Given the description of an element on the screen output the (x, y) to click on. 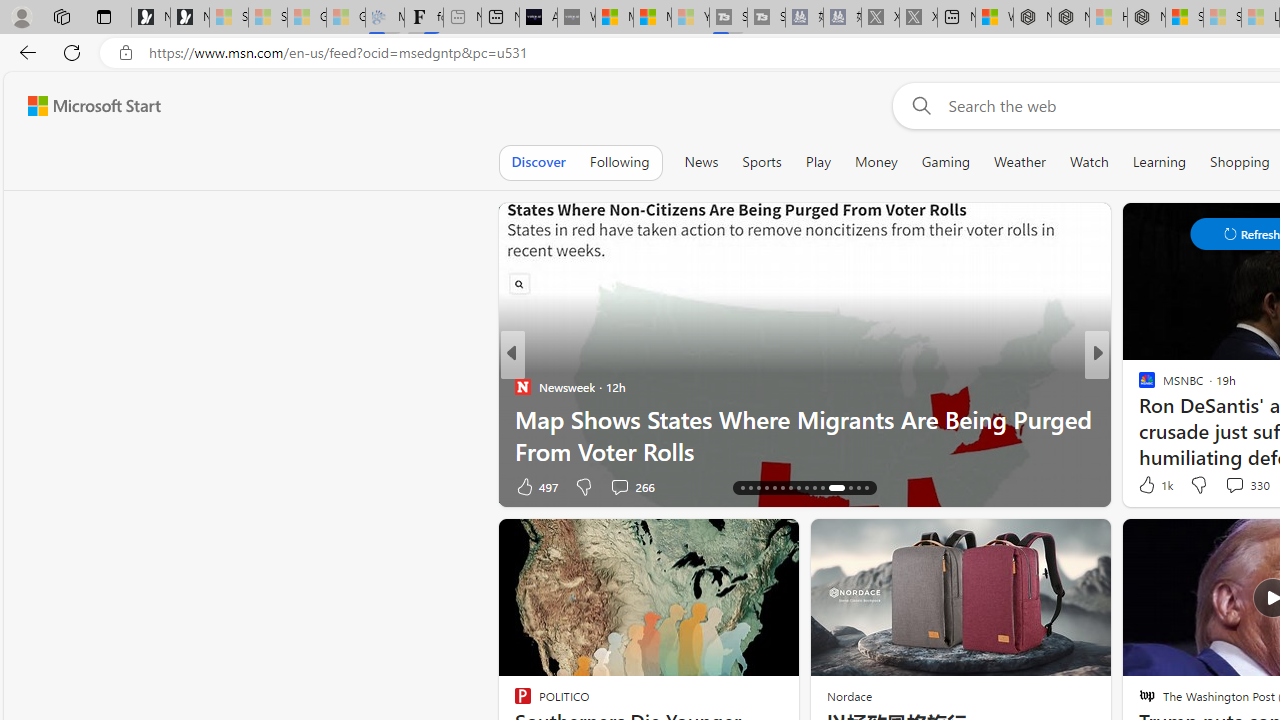
AutomationID: tab-22 (789, 487)
This story is trending (1057, 490)
AutomationID: tab-30 (865, 487)
Play (818, 162)
AutomationID: tab-24 (806, 487)
View comments 152 Comment (11, 485)
Weather (1019, 162)
Streaming Coverage | T3 - Sleeping (728, 17)
AutomationID: tab-26 (821, 487)
Sports (761, 162)
